Given the description of an element on the screen output the (x, y) to click on. 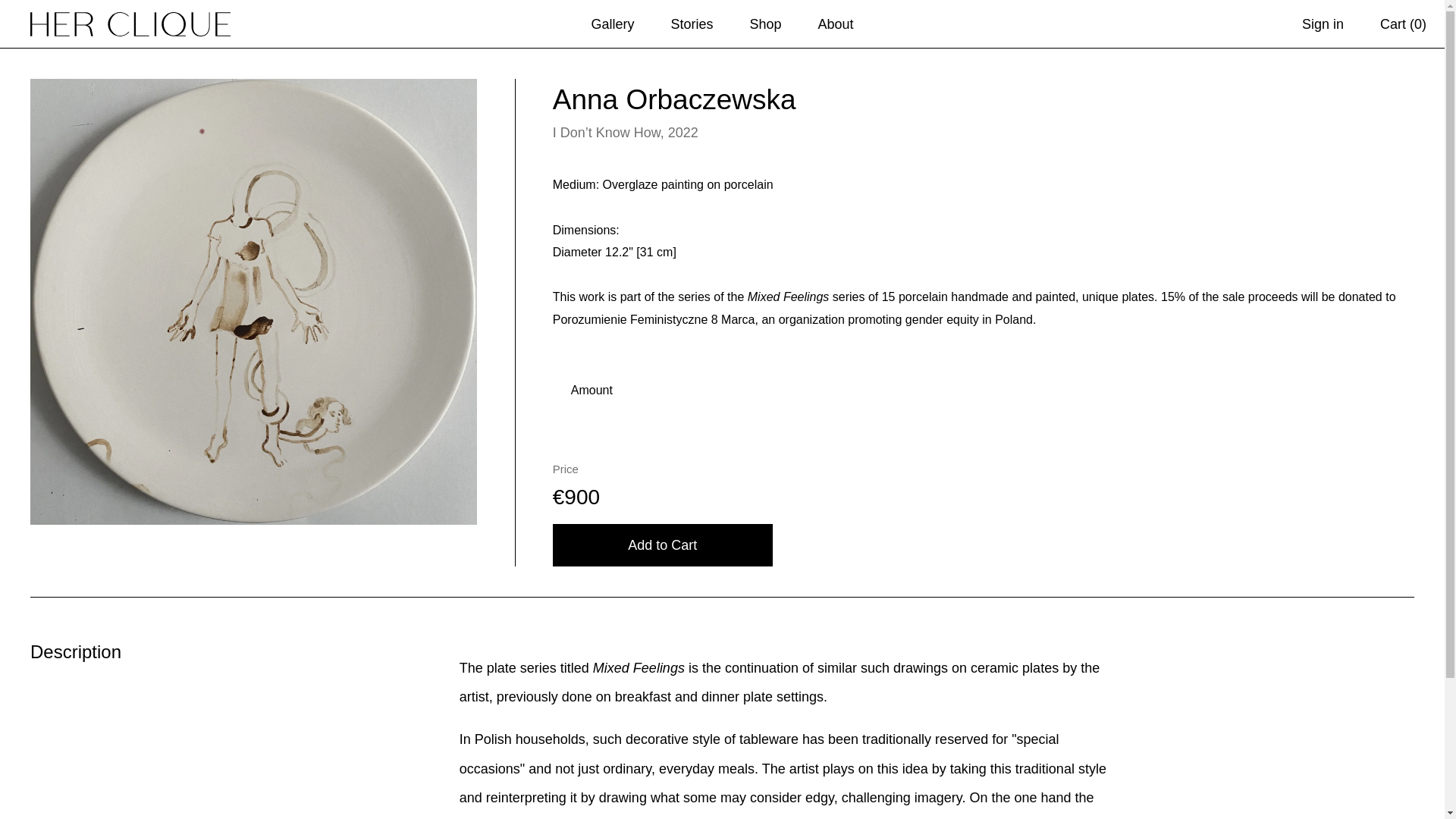
Gallery (612, 24)
Sign in (1322, 24)
Stories (691, 24)
About (835, 24)
Shop (764, 24)
